Given the description of an element on the screen output the (x, y) to click on. 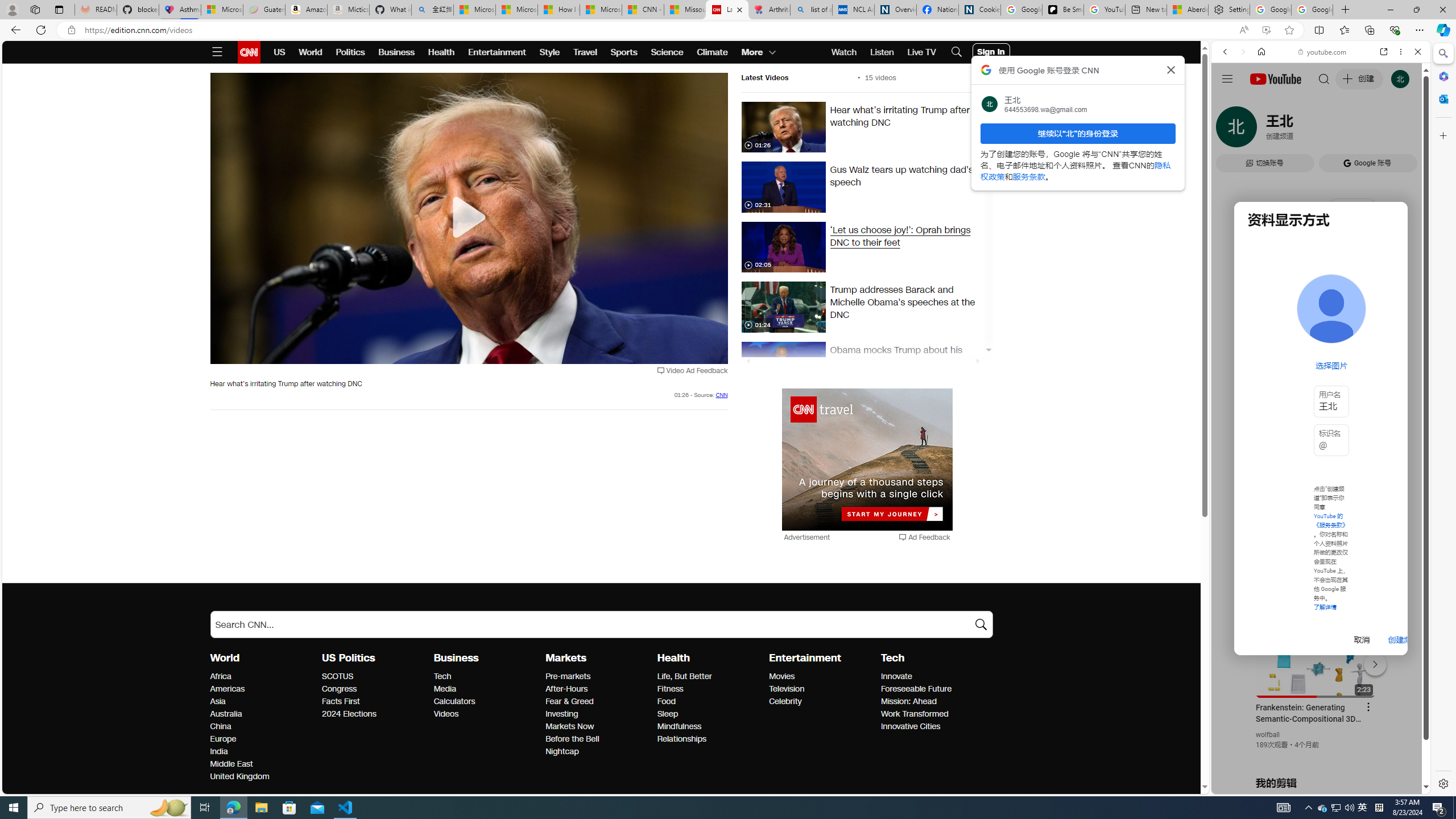
World Europe (222, 738)
World Middle East (231, 763)
World Africa (220, 676)
Business Tech (442, 676)
BusinessTechMediaCalculatorsVideos (489, 685)
Trailer #2 [HD] (1320, 336)
